Given the description of an element on the screen output the (x, y) to click on. 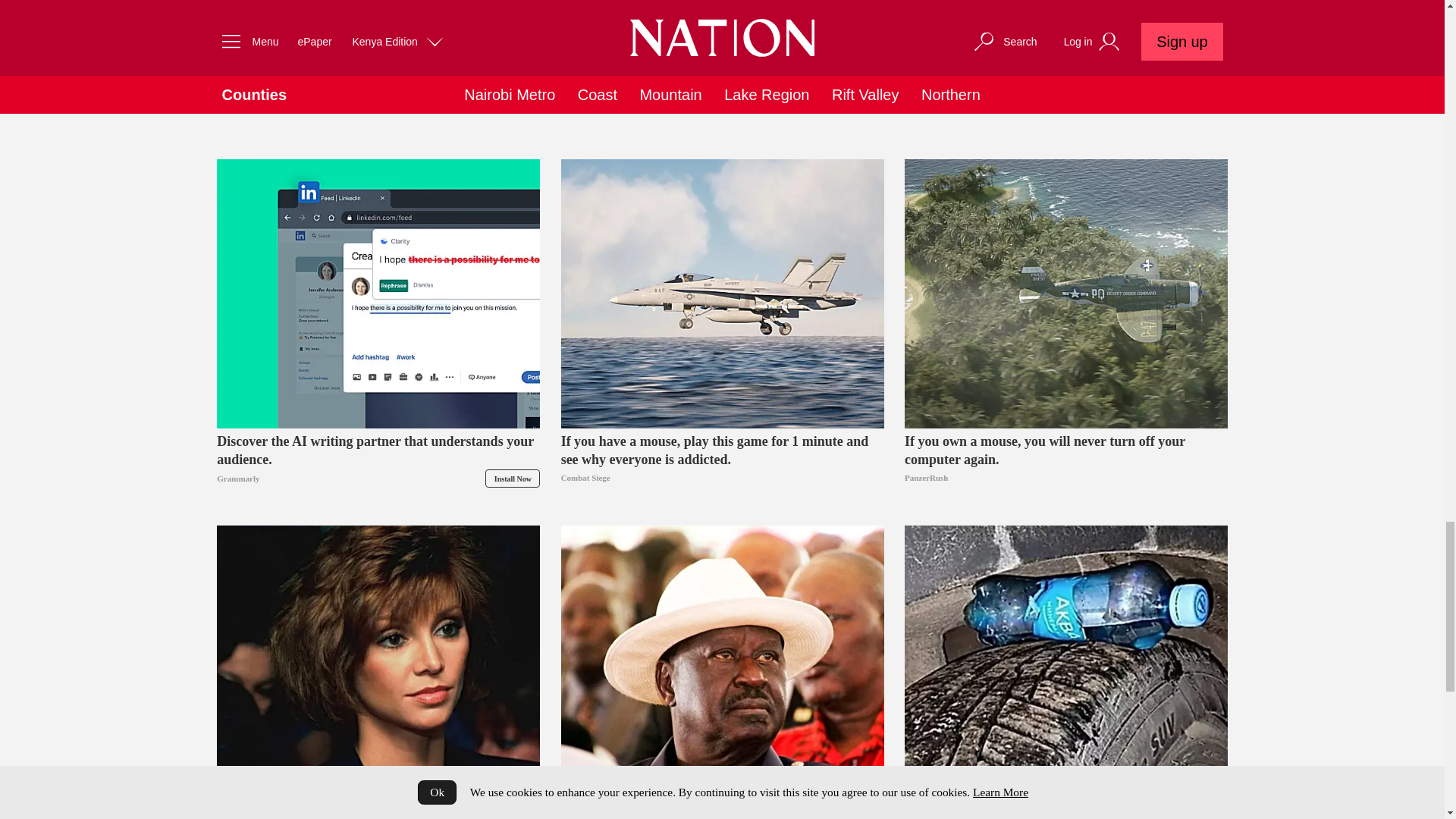
She Was Beautiful, Now Its Hard To Look At Her (378, 659)
Husband arrested as wife's dismembered body found in Nandi (378, 102)
Husband arrested as wife's dismembered body found in Nandi (378, 31)
